Given the description of an element on the screen output the (x, y) to click on. 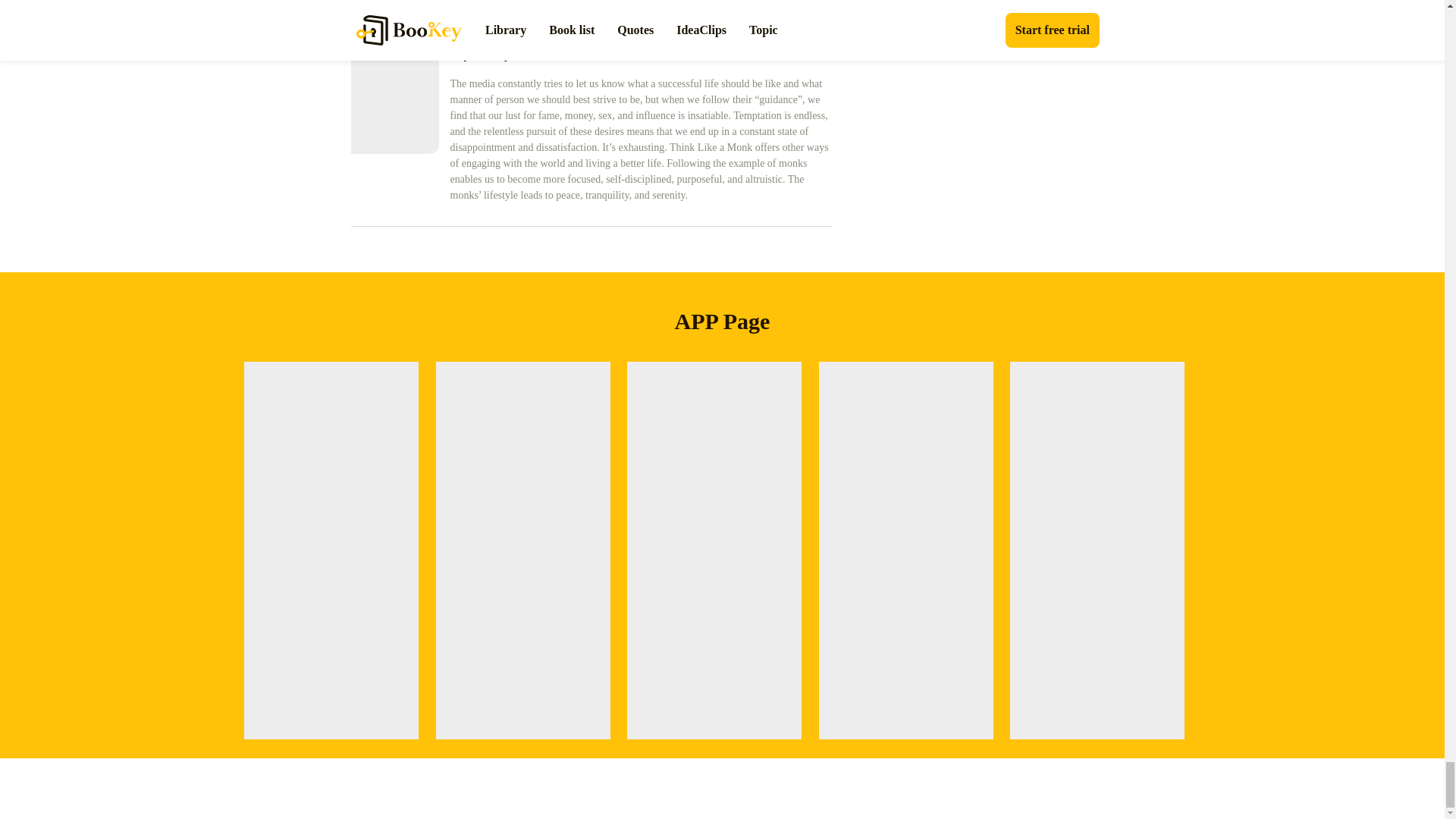
Think Like a Monk (640, 31)
